Given the description of an element on the screen output the (x, y) to click on. 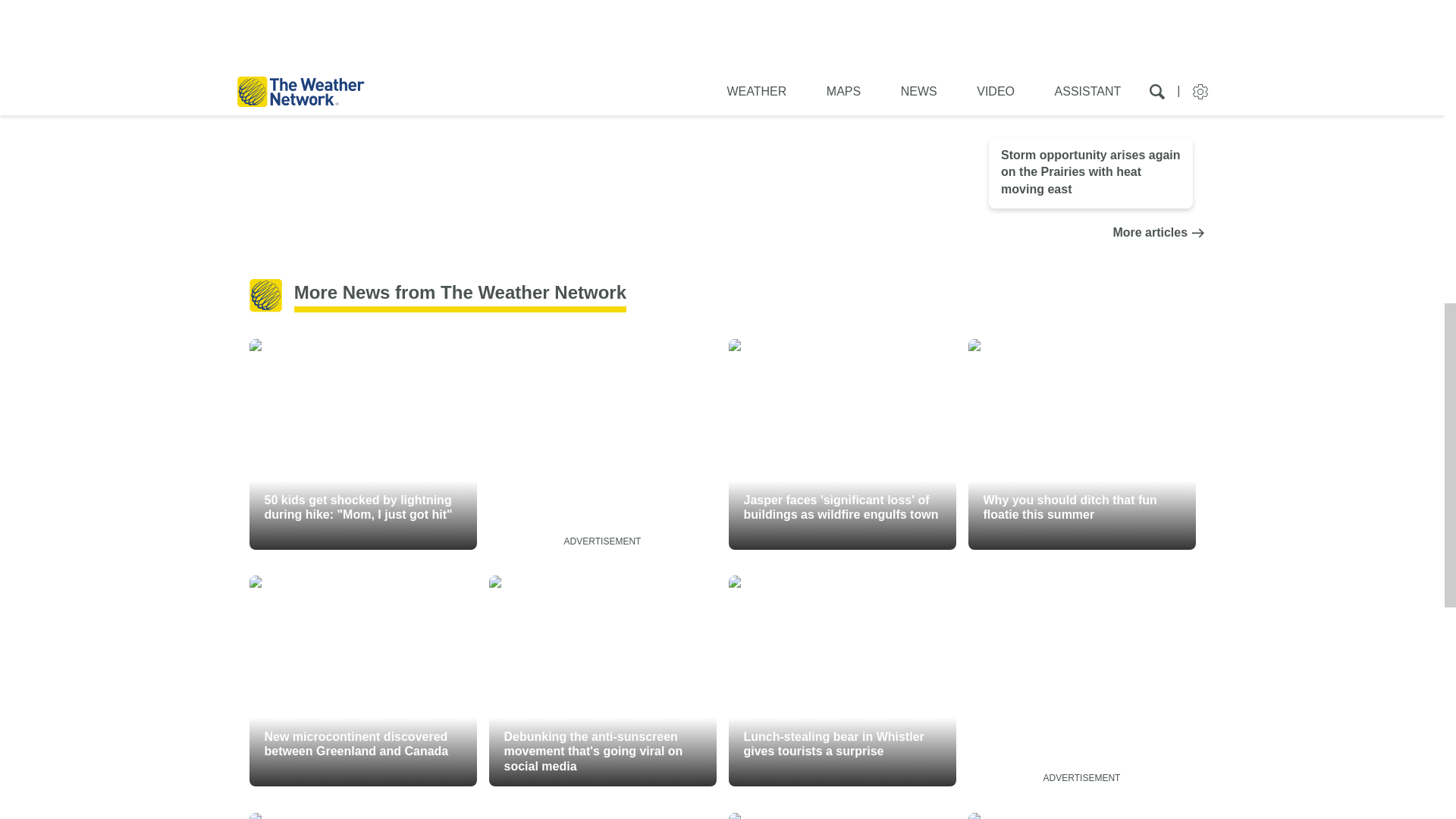
Lunch-stealing bear in Whistler gives tourists a surprise (841, 680)
Heavy rain, storms slice through Atlantic Canada Thursday (1090, 12)
Why you should ditch that fun floatie this summer (1081, 444)
More articles (1090, 232)
Lightning strike leaves a distinct mark on a golf course (841, 816)
Sudden storm leaves window washers dangling from skyscraper (362, 816)
New microcontinent discovered between Greenland and Canada (362, 680)
